Given the description of an element on the screen output the (x, y) to click on. 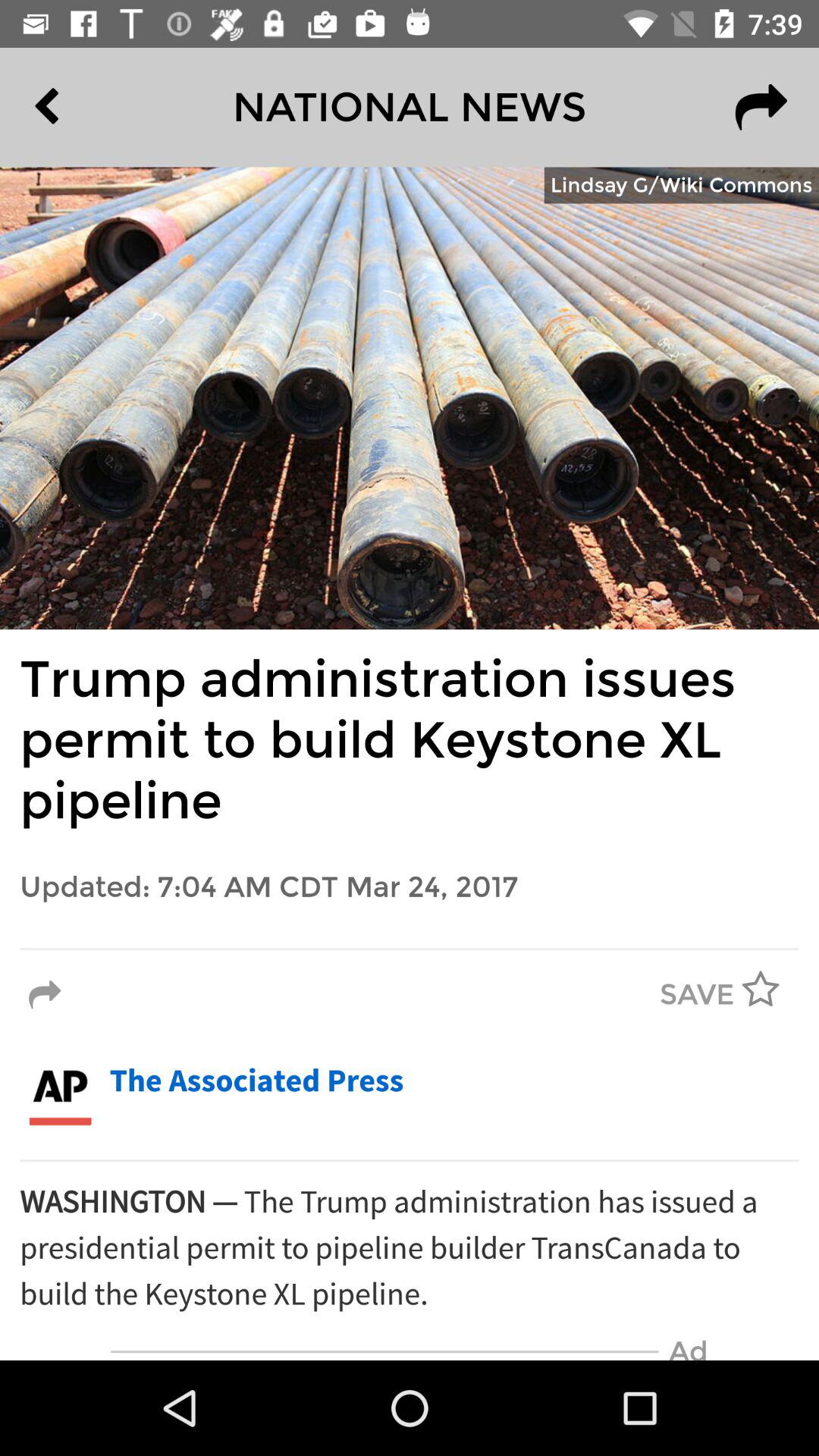
turn off item to the right of the national news (761, 107)
